Given the description of an element on the screen output the (x, y) to click on. 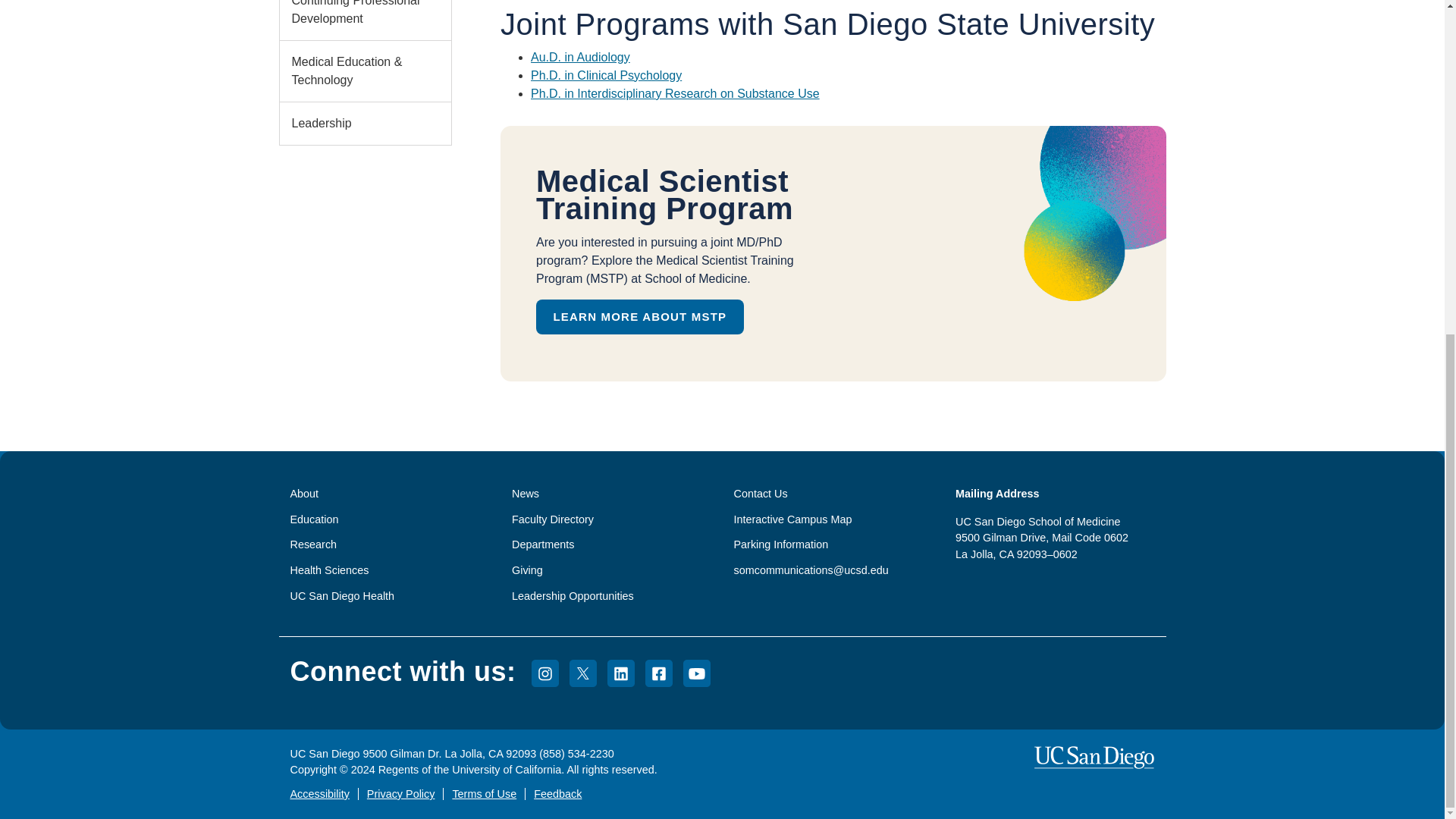
Joint Graduate Program with SDSU - Clinical Psychology (606, 74)
Joint Graduate Program with SDSU - Audiology (580, 56)
